Given the description of an element on the screen output the (x, y) to click on. 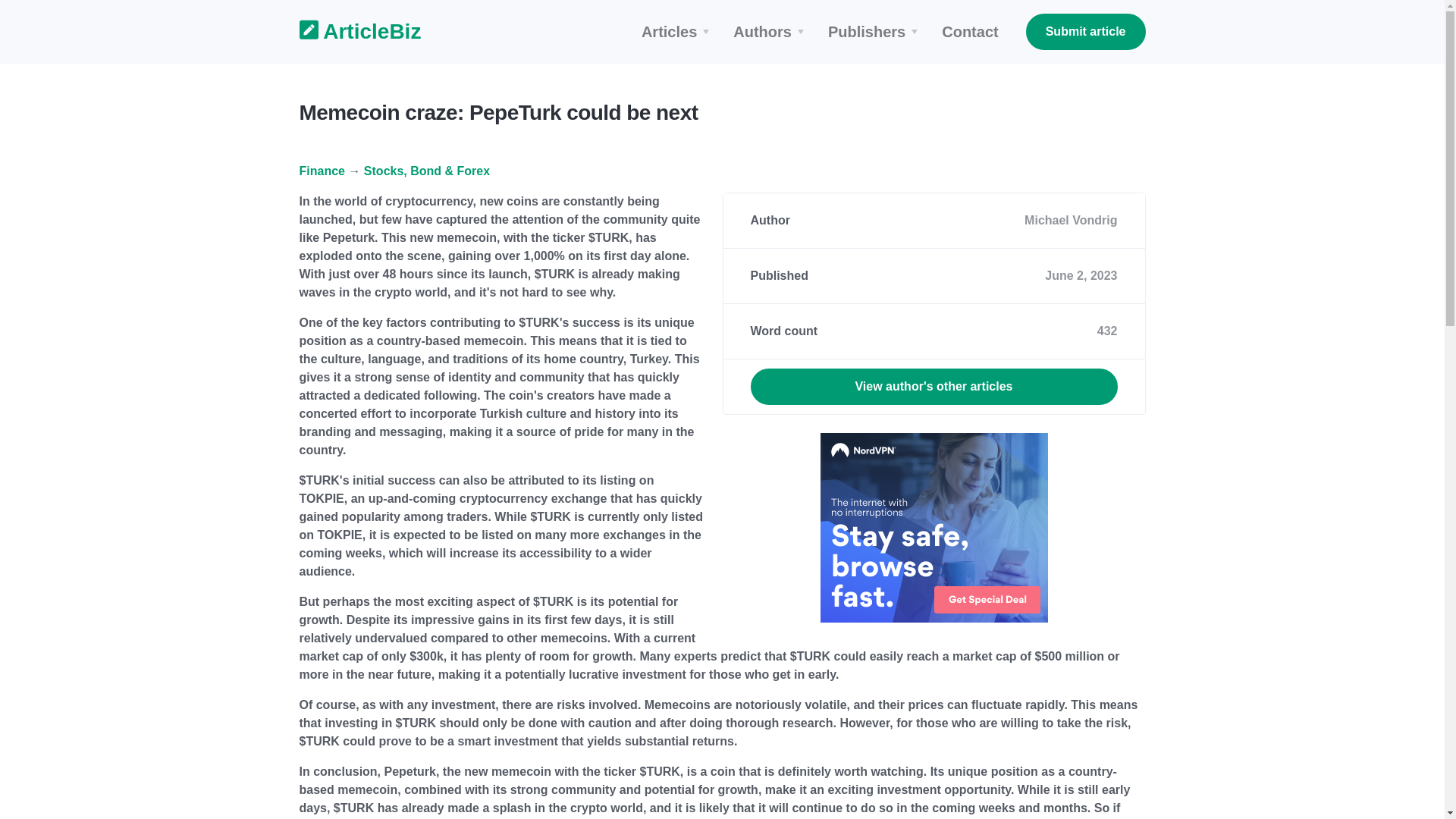
Authors (770, 31)
Articles (677, 31)
Contact (970, 31)
Submit article (1085, 31)
ArticleBiz (349, 31)
View author's other articles (934, 386)
Publishers (875, 31)
Finance (320, 170)
